Given the description of an element on the screen output the (x, y) to click on. 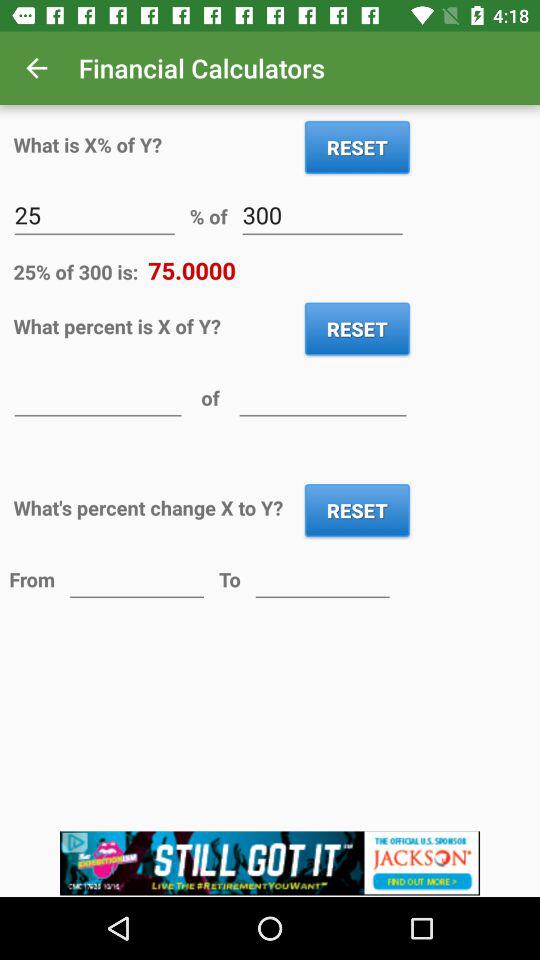
advertisement (270, 864)
